Given the description of an element on the screen output the (x, y) to click on. 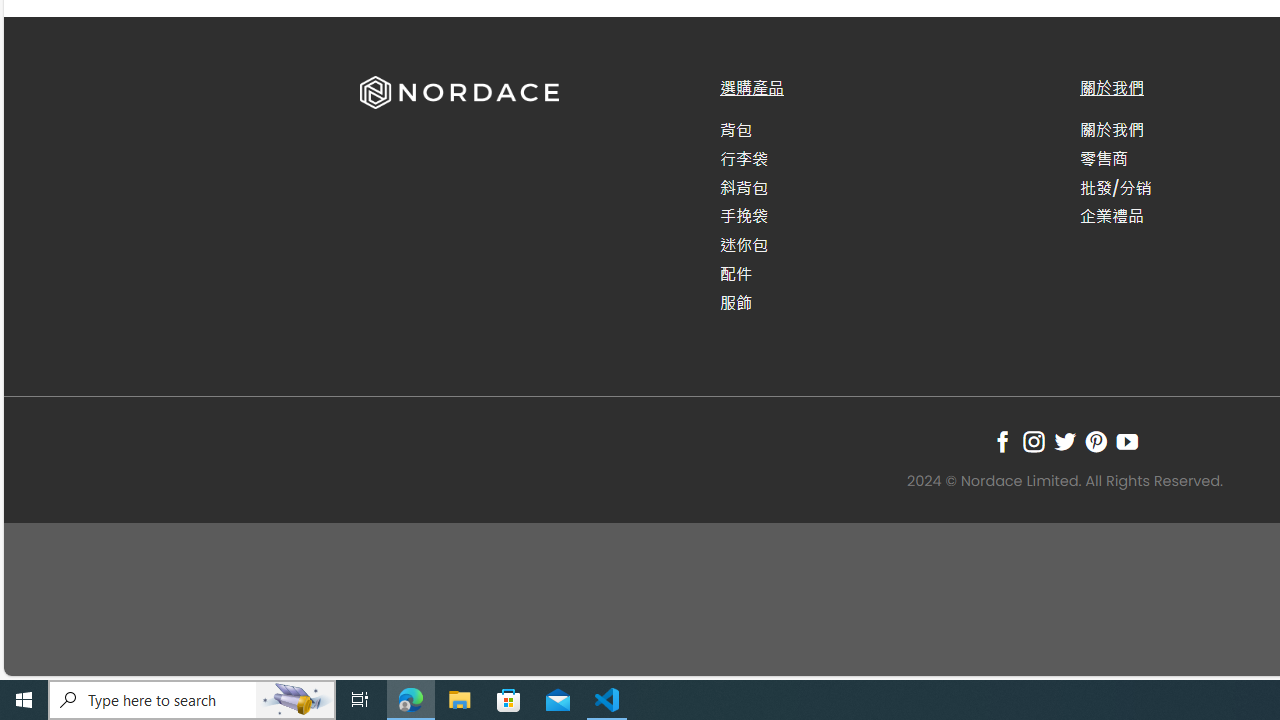
Follow on Twitter (1064, 441)
Follow on Pinterest (1096, 441)
